Given the description of an element on the screen output the (x, y) to click on. 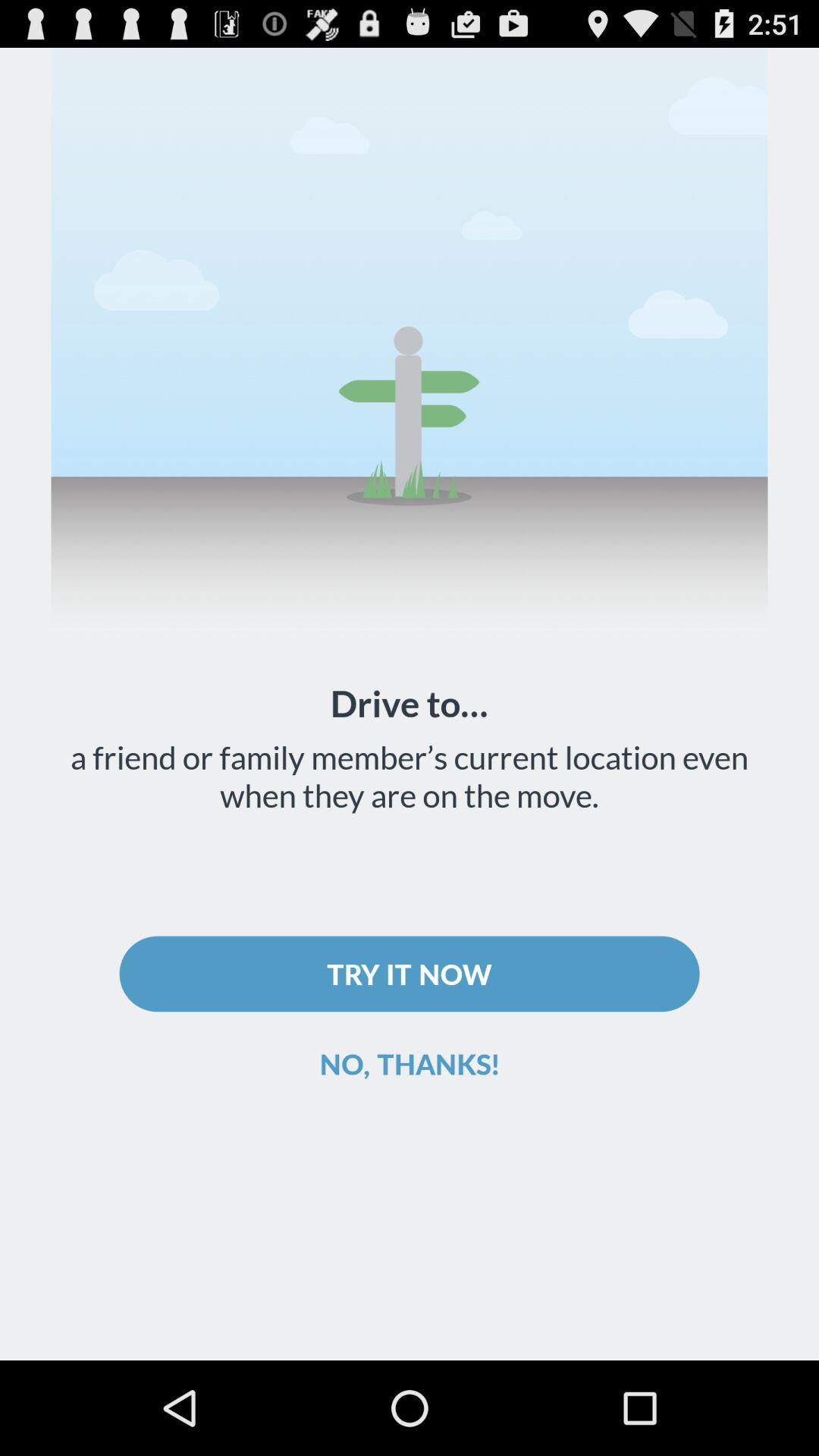
tap the no, thanks! (409, 1063)
